Given the description of an element on the screen output the (x, y) to click on. 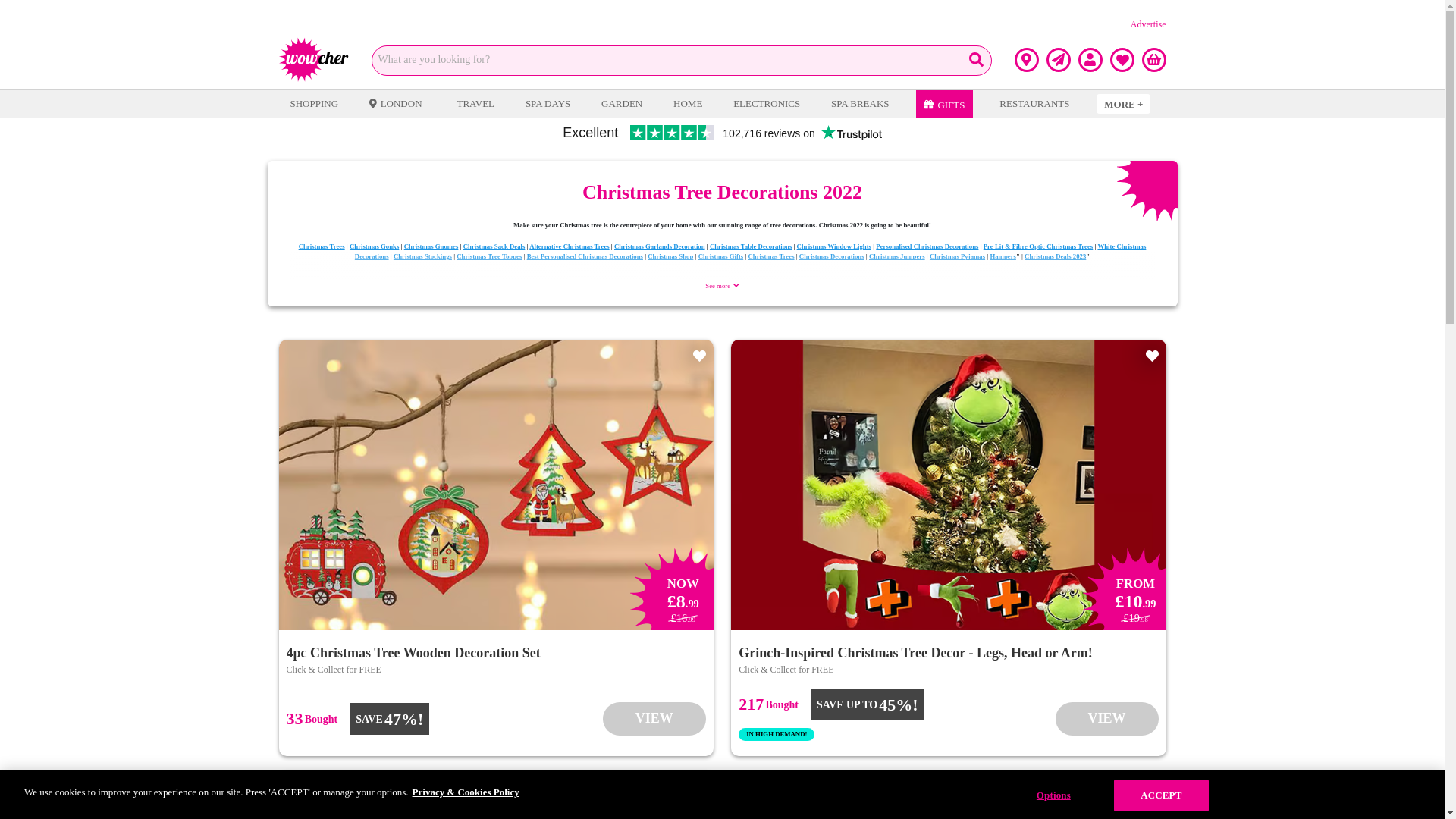
Change location (1026, 59)
SPA DAYS (547, 103)
Advertise (1148, 23)
Wishlist (1121, 59)
SHOPPING (314, 103)
GIFTS (943, 103)
Subscribe to our Newsletter (1058, 59)
Basket (1153, 59)
HOME (687, 103)
GARDEN (621, 103)
SPA BREAKS (859, 103)
Login (1090, 59)
TRAVEL (474, 103)
ELECTRONICS (766, 103)
LONDON (397, 103)
